Given the description of an element on the screen output the (x, y) to click on. 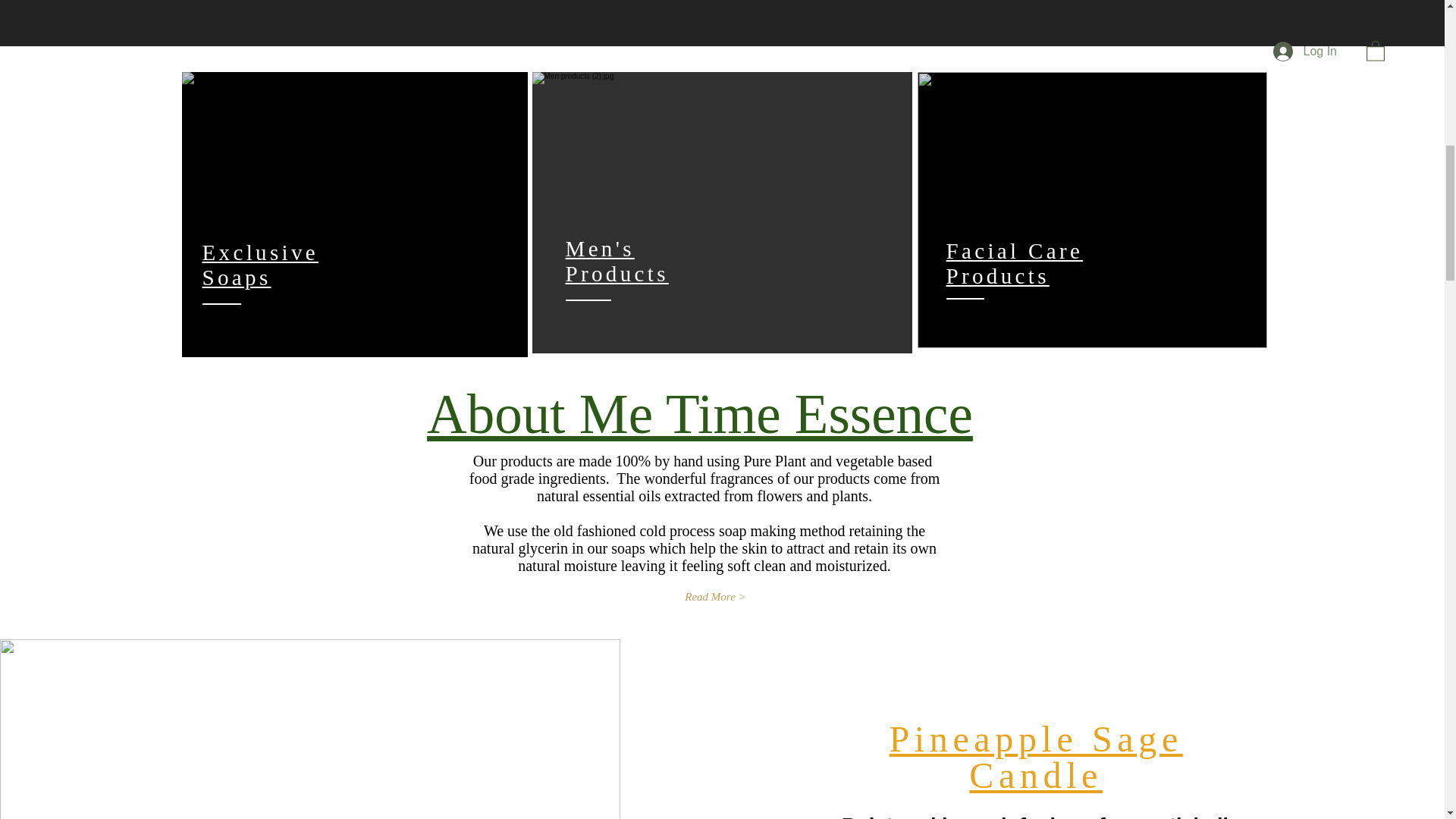
Facial Care Products (1014, 263)
Men's Products (617, 260)
Exclusive Soaps (260, 264)
